Given the description of an element on the screen output the (x, y) to click on. 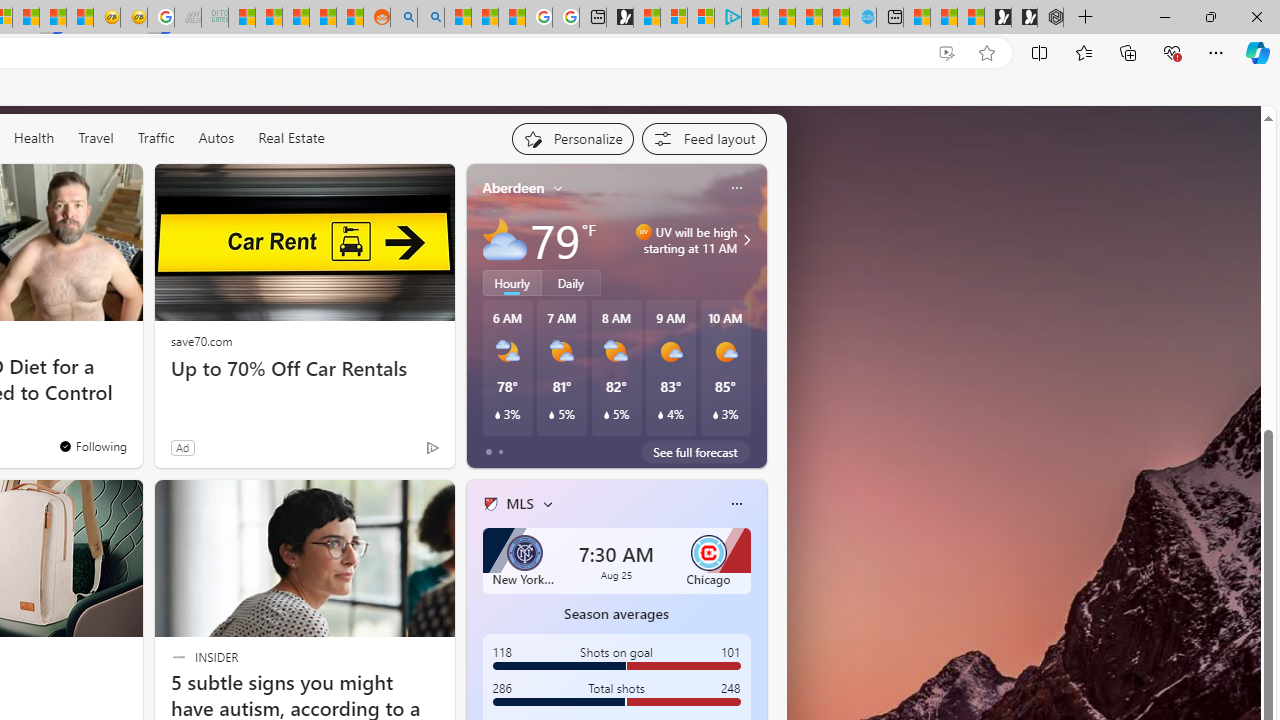
Mostly cloudy (504, 240)
Feed settings (703, 138)
Mostly cloudy (504, 240)
Personalize your feed" (571, 138)
